Given the description of an element on the screen output the (x, y) to click on. 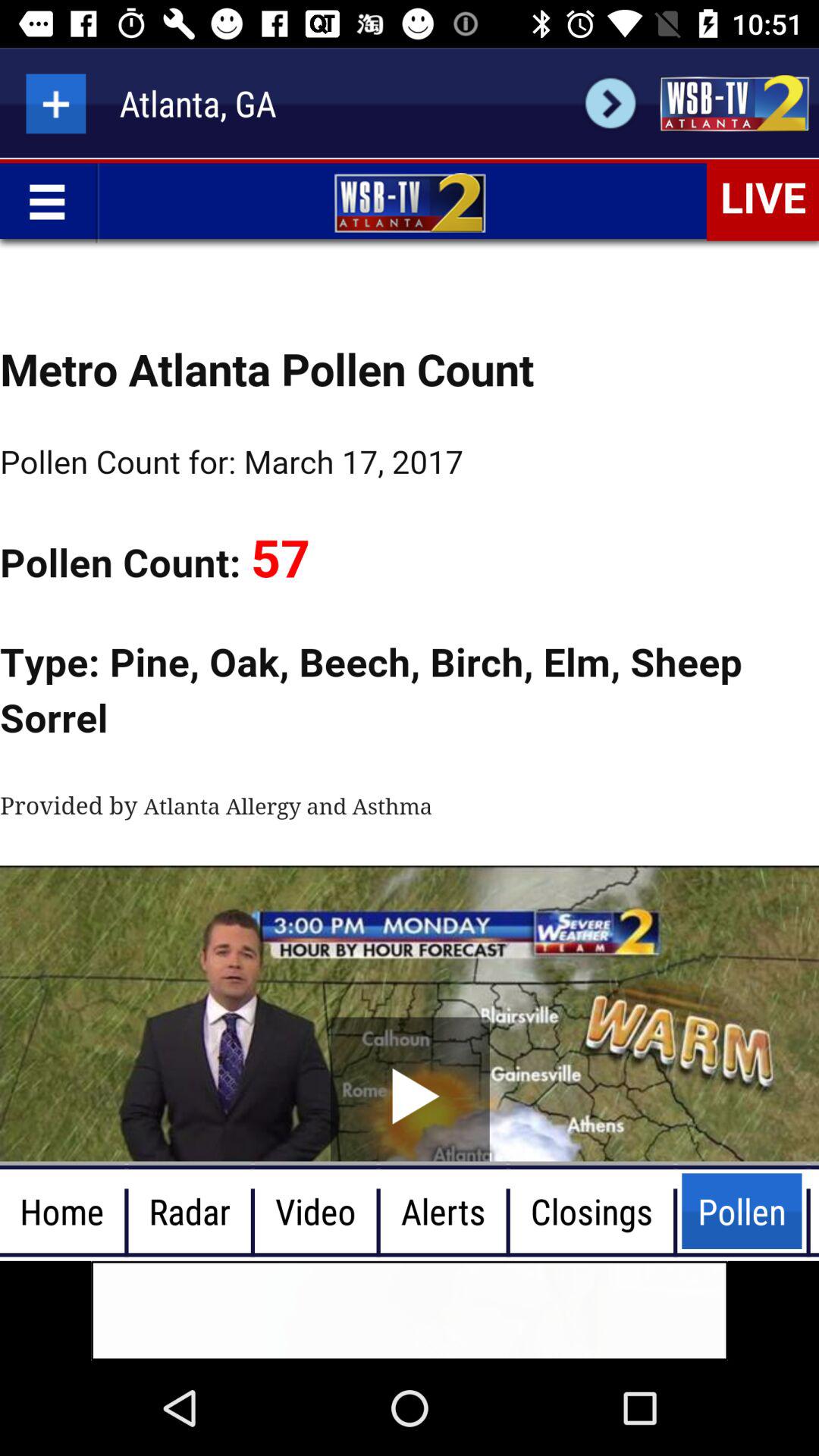
add city (55, 103)
